Given the description of an element on the screen output the (x, y) to click on. 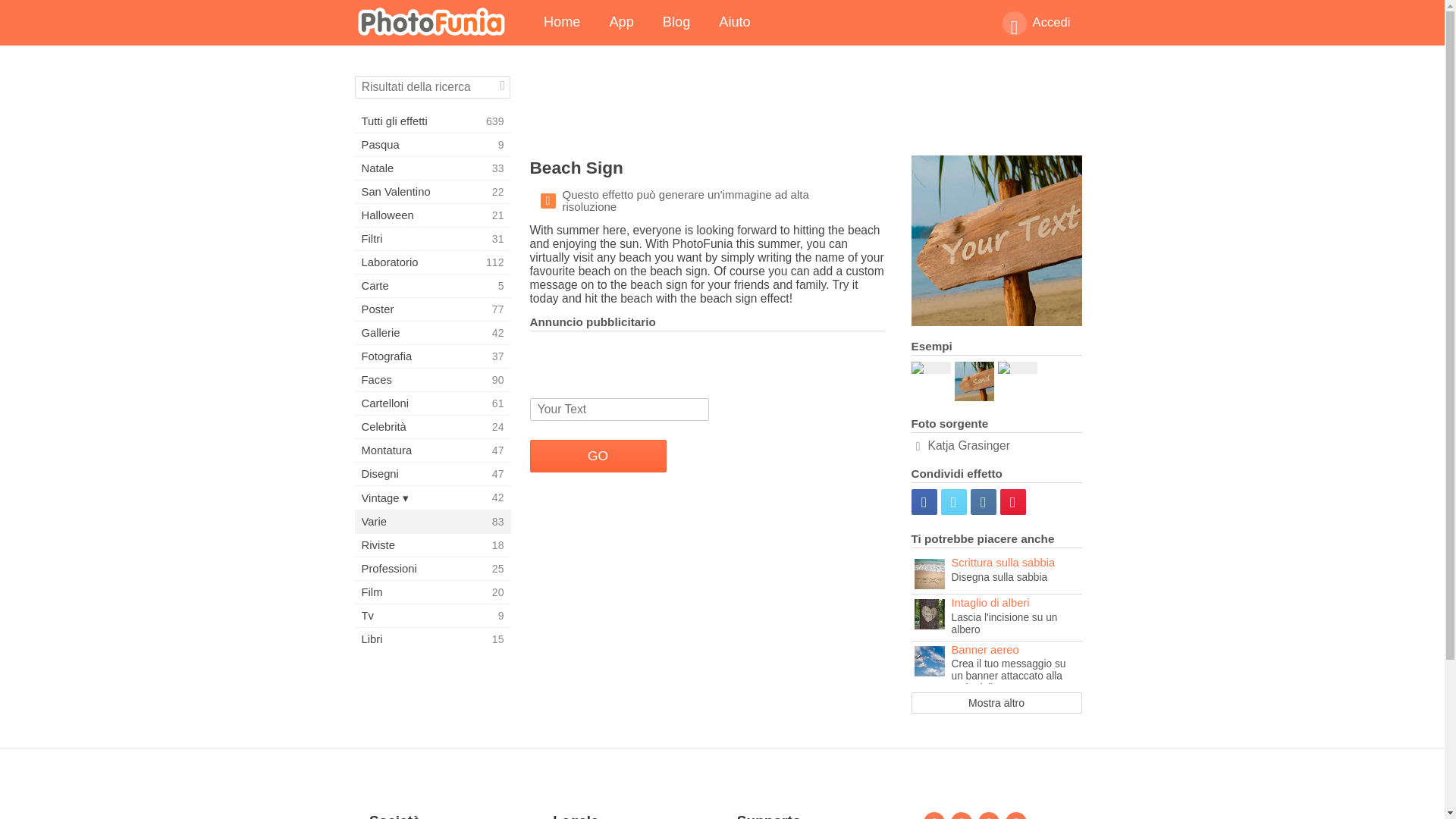
Home (433, 191)
PhotoFunia (433, 639)
App (562, 22)
